Given the description of an element on the screen output the (x, y) to click on. 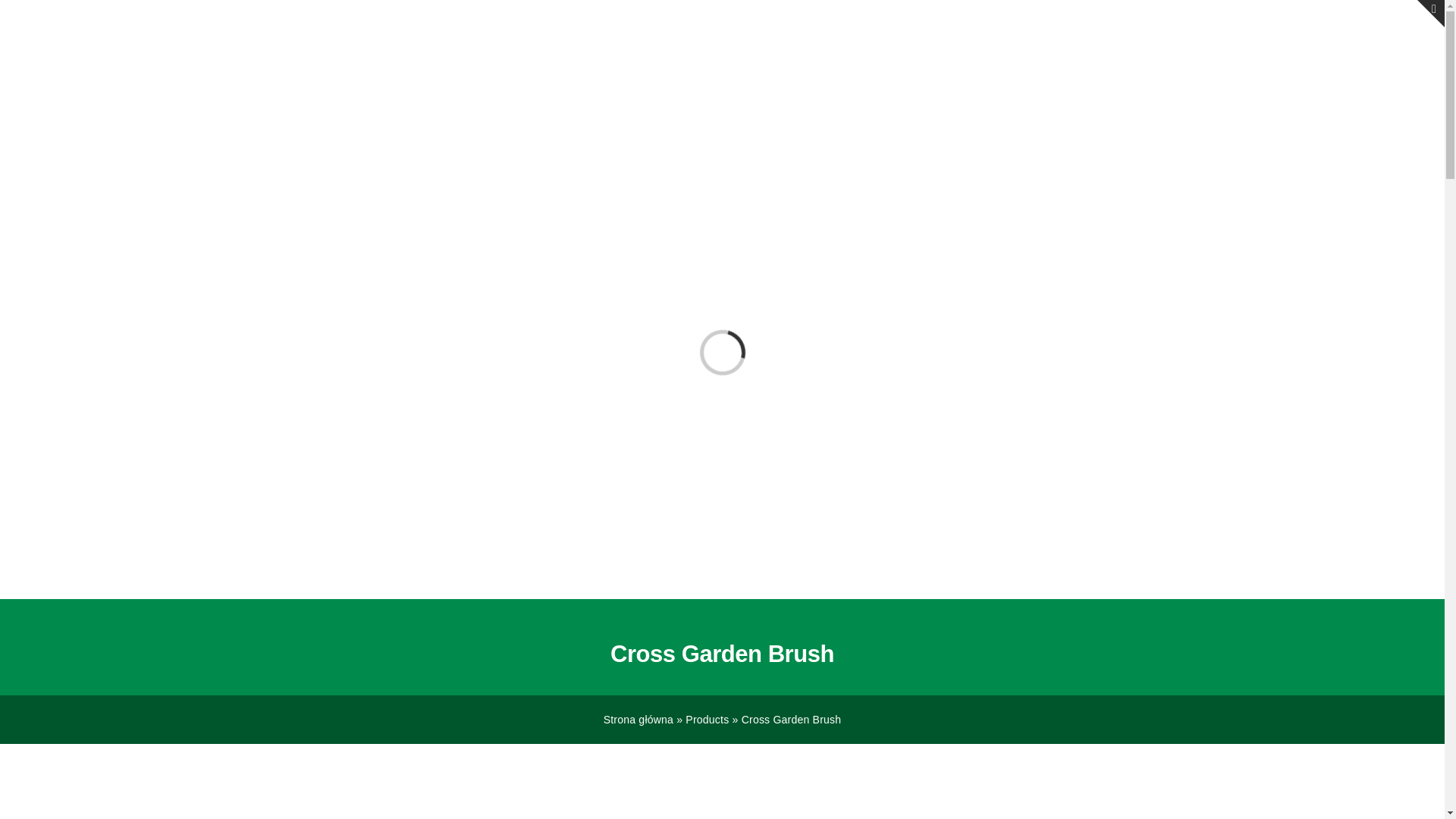
PRODUCTS (957, 53)
COLLECTIONS (1068, 53)
ABOUT (872, 53)
CATALOGUES (1181, 53)
